Given the description of an element on the screen output the (x, y) to click on. 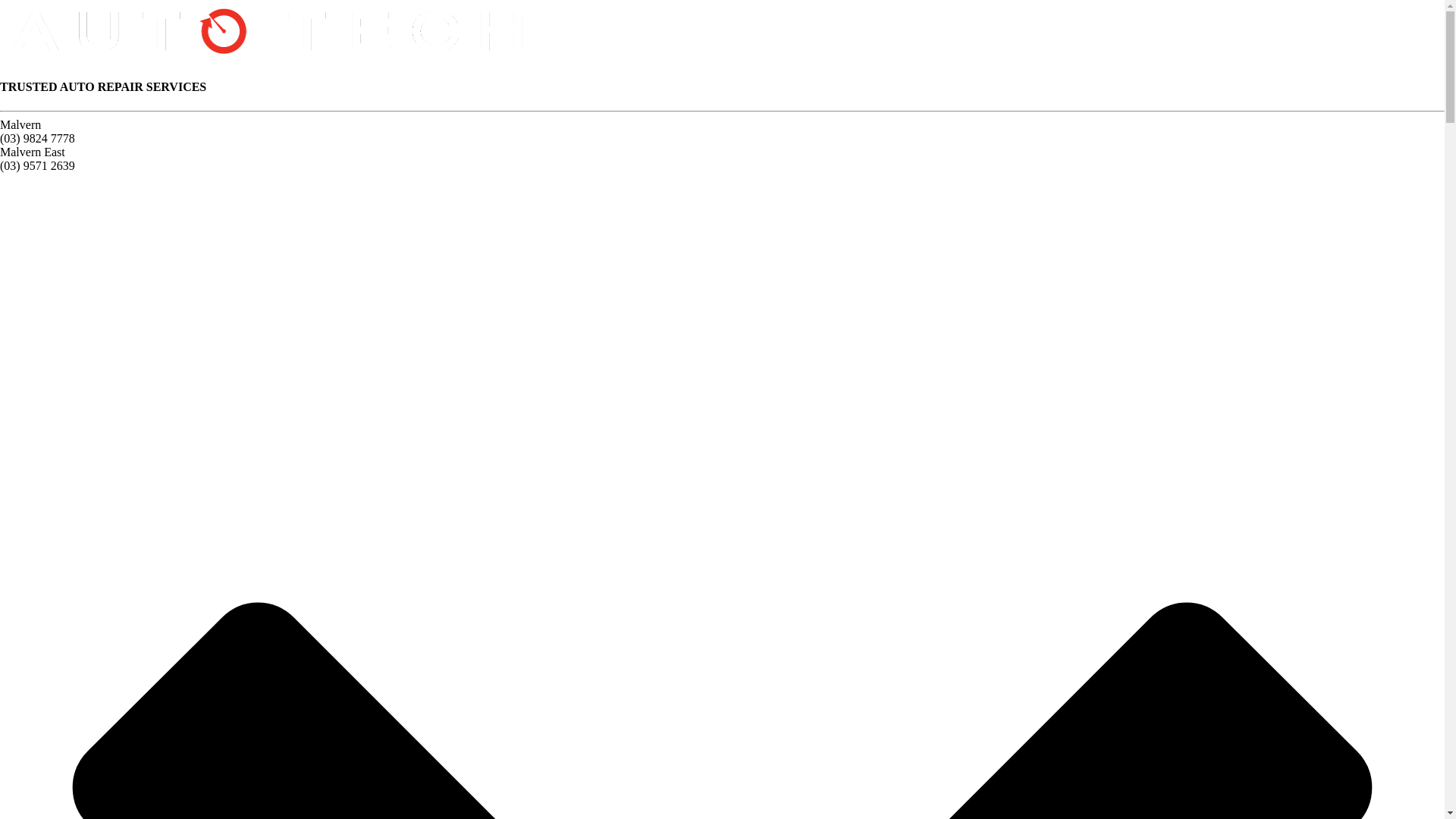
Malvern Auto Tech Element type: hover (265, 56)
